Given the description of an element on the screen output the (x, y) to click on. 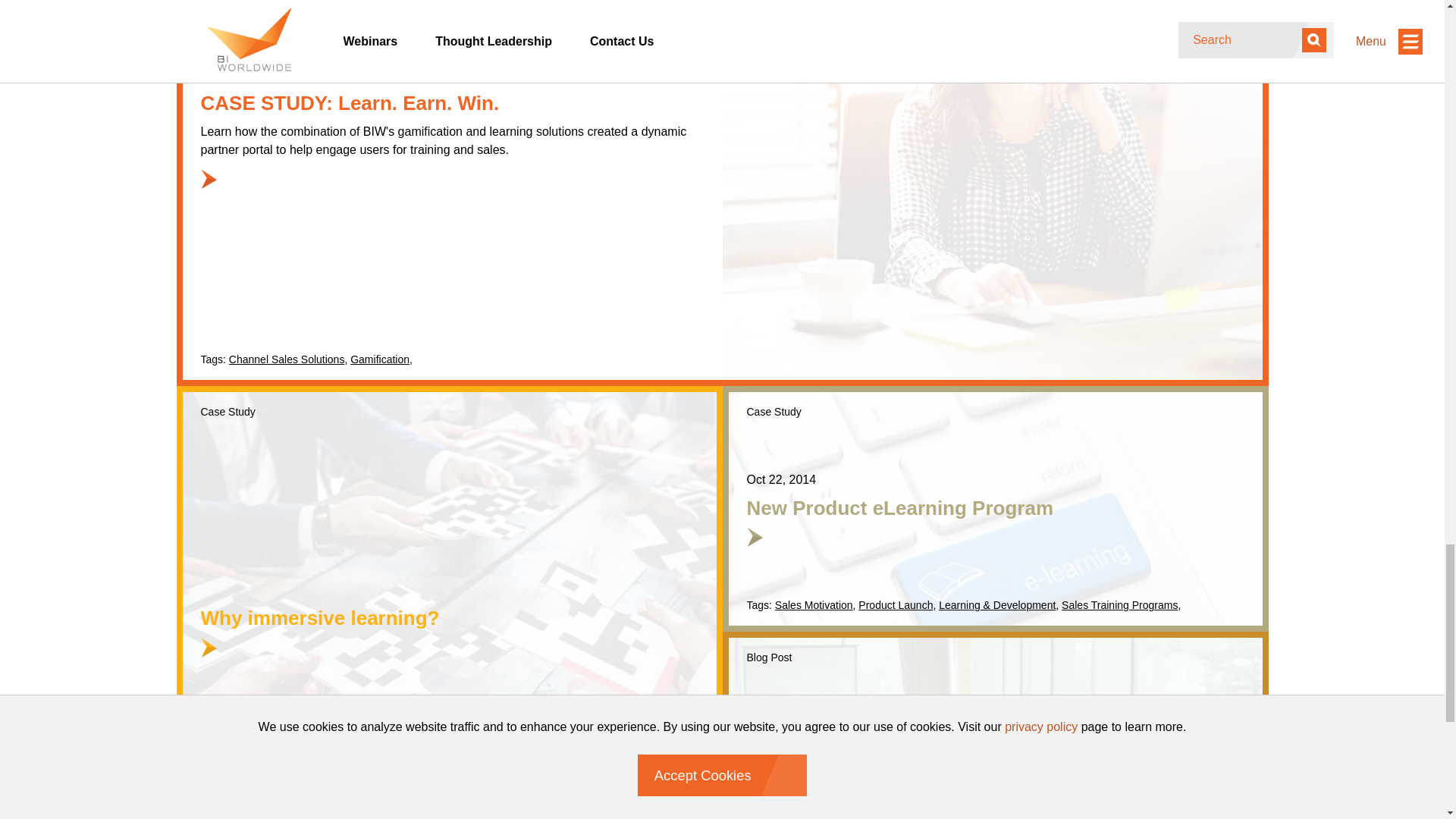
Sales Motivation (813, 604)
Sales Training Programs (1119, 604)
Channel Sales Solutions (286, 358)
Product Launch (995, 725)
